Given the description of an element on the screen output the (x, y) to click on. 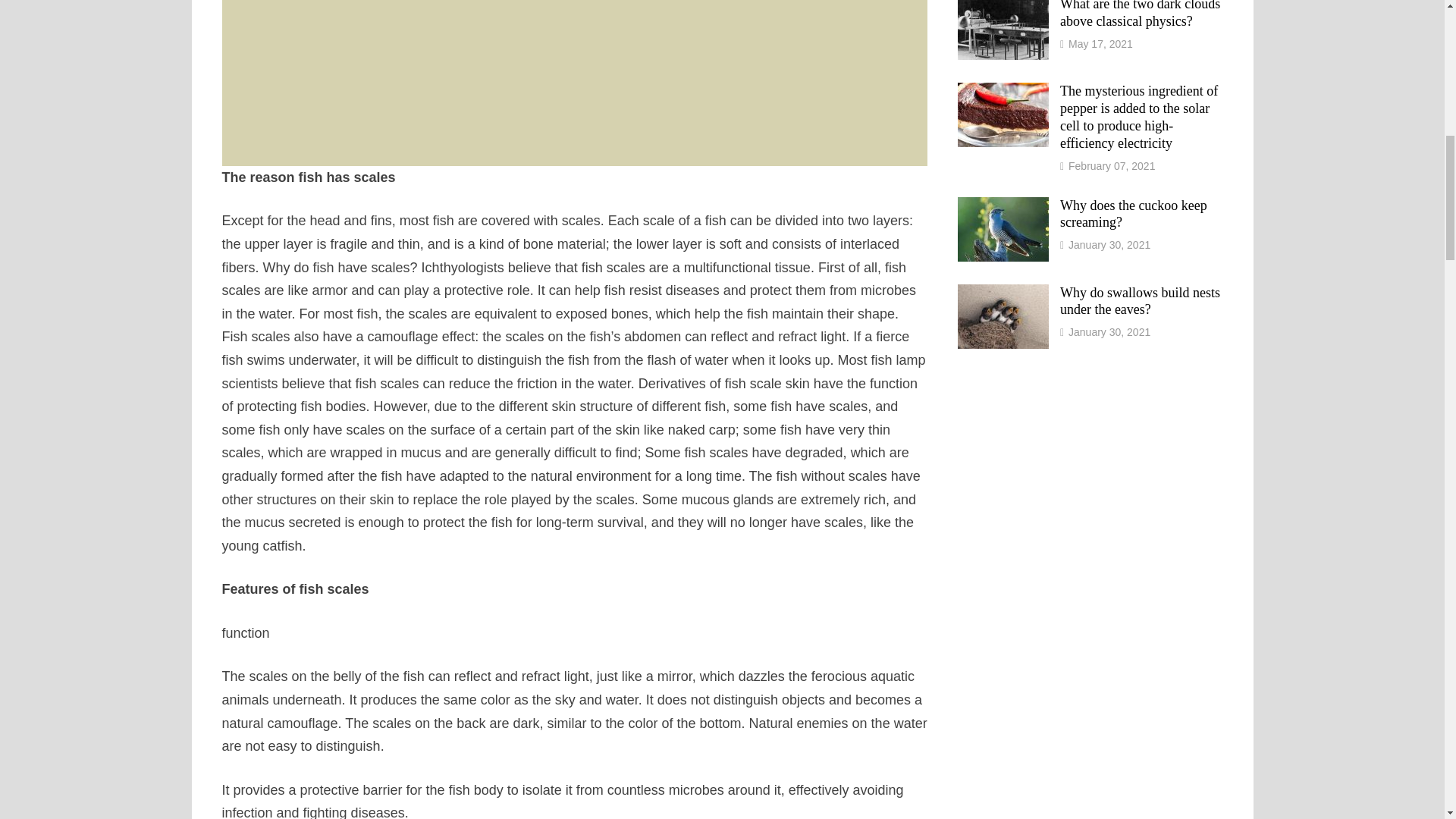
Advertisement (573, 83)
